Given the description of an element on the screen output the (x, y) to click on. 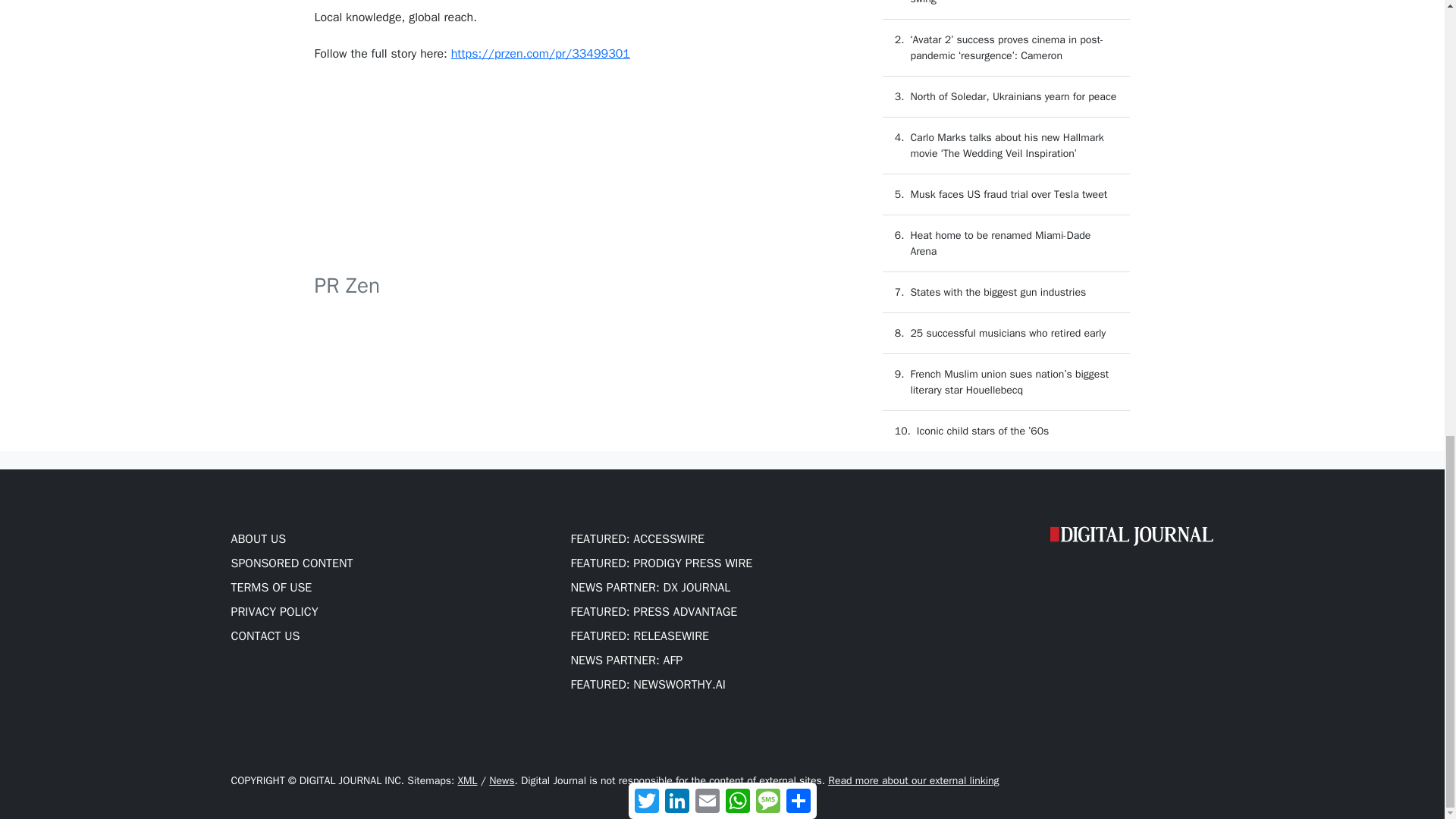
North of Soledar, Ukrainians yearn for peace (1013, 96)
States with the biggest gun industries (998, 291)
25 successful musicians who retired early (1007, 332)
Heat home to be renamed Miami-Dade Arena (1000, 243)
Musk faces US fraud trial over Tesla tweet (1008, 194)
